Given the description of an element on the screen output the (x, y) to click on. 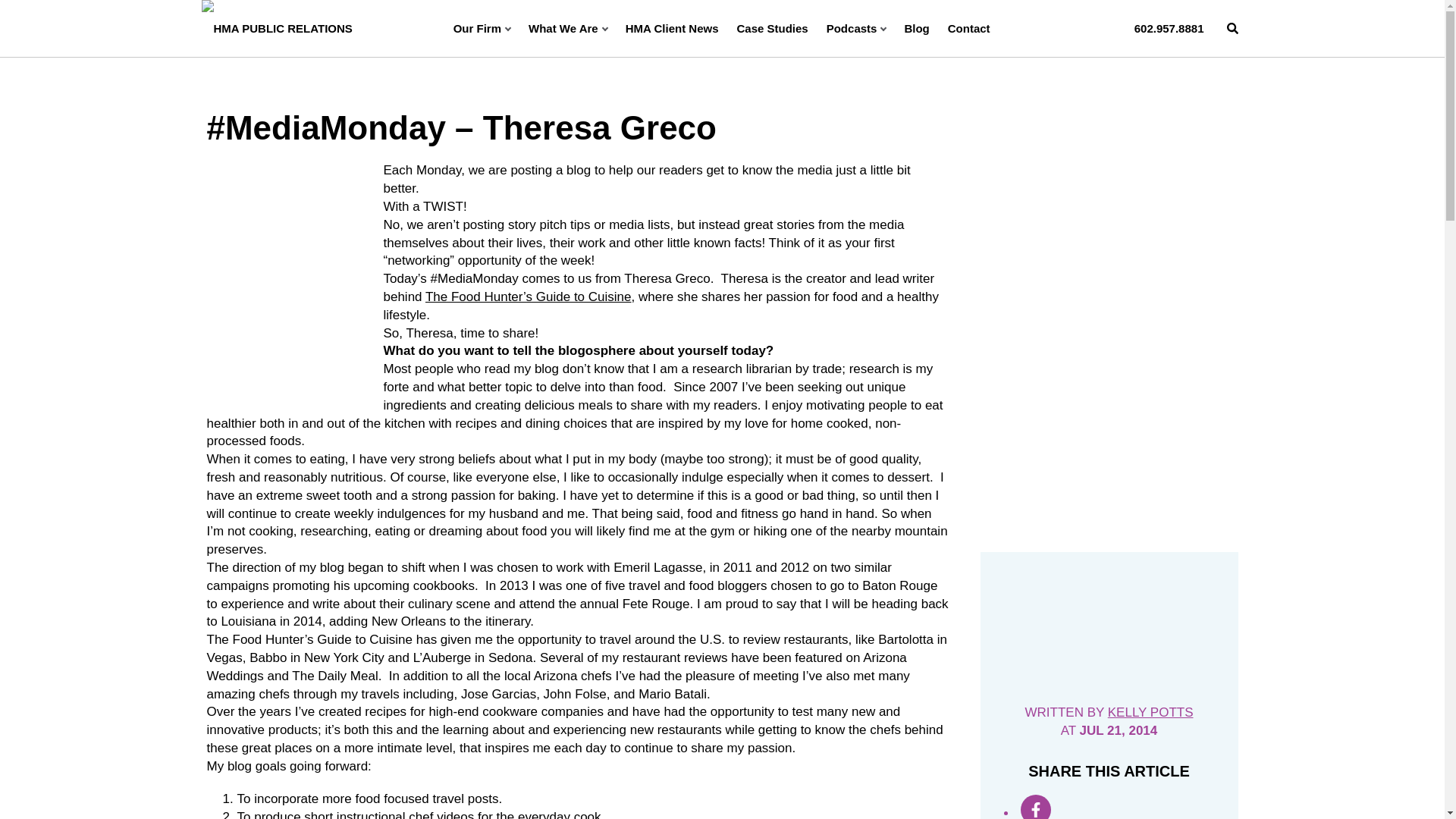
Posts by Kelly Potts (1150, 712)
Search (1233, 28)
Contact (968, 28)
KELLY POTTS (1150, 712)
HMA Client News (672, 28)
Blog (916, 28)
Case Studies (772, 28)
What We Are (567, 28)
Our Firm (481, 28)
602.957.8881 (1169, 28)
Podcasts (856, 28)
